Given the description of an element on the screen output the (x, y) to click on. 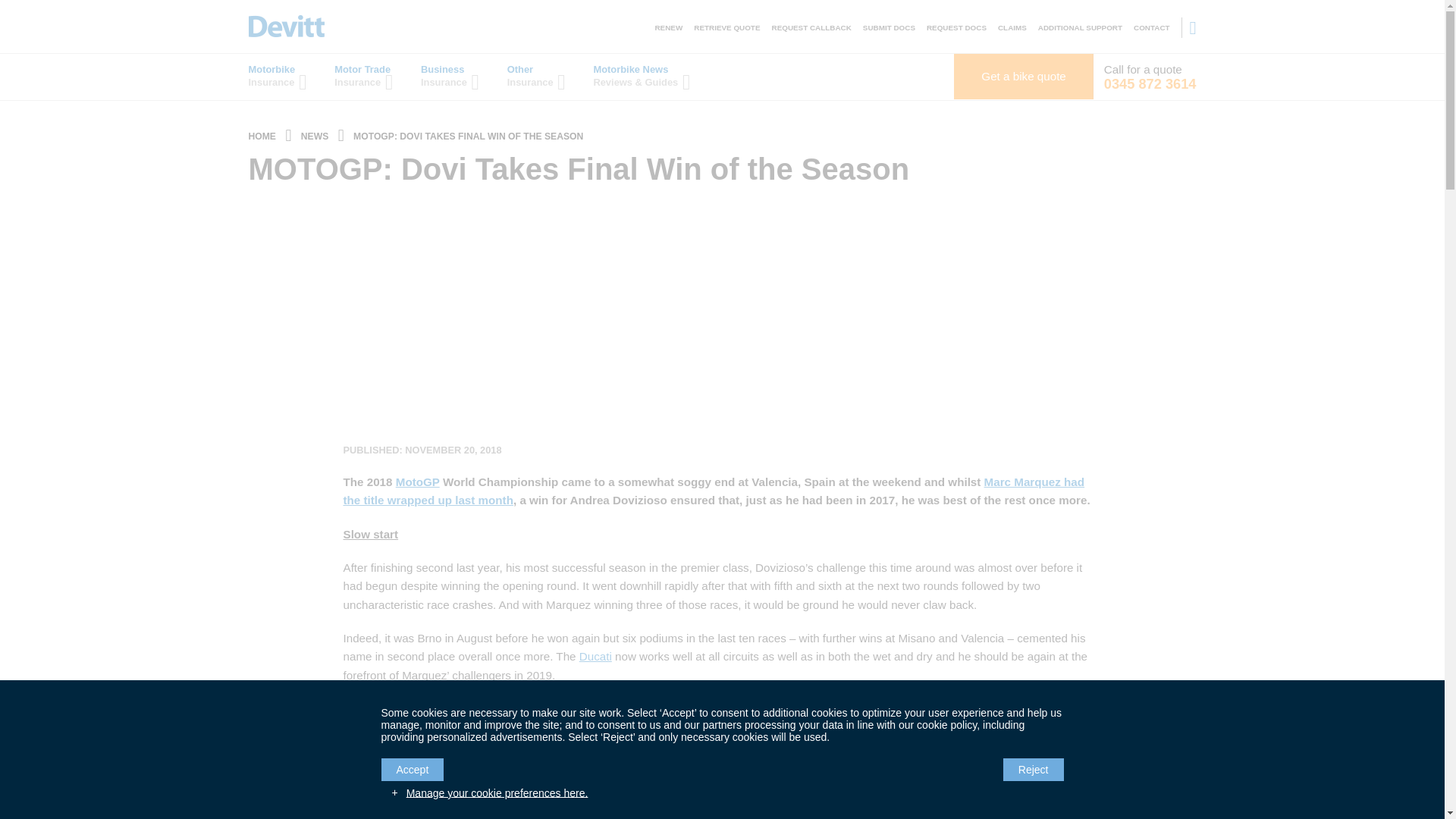
Return to Devitt Insurance homepage (262, 136)
CLAIMS (1011, 27)
CONTACT (1152, 27)
ADDITIONAL SUPPORT (1080, 27)
RENEW (667, 27)
RETRIEVE QUOTE (727, 27)
REQUEST DOCS (956, 27)
SUBMIT DOCS (889, 27)
Return to Devitt Insurance homepage (286, 26)
REQUEST CALLBACK (811, 27)
